Given the description of an element on the screen output the (x, y) to click on. 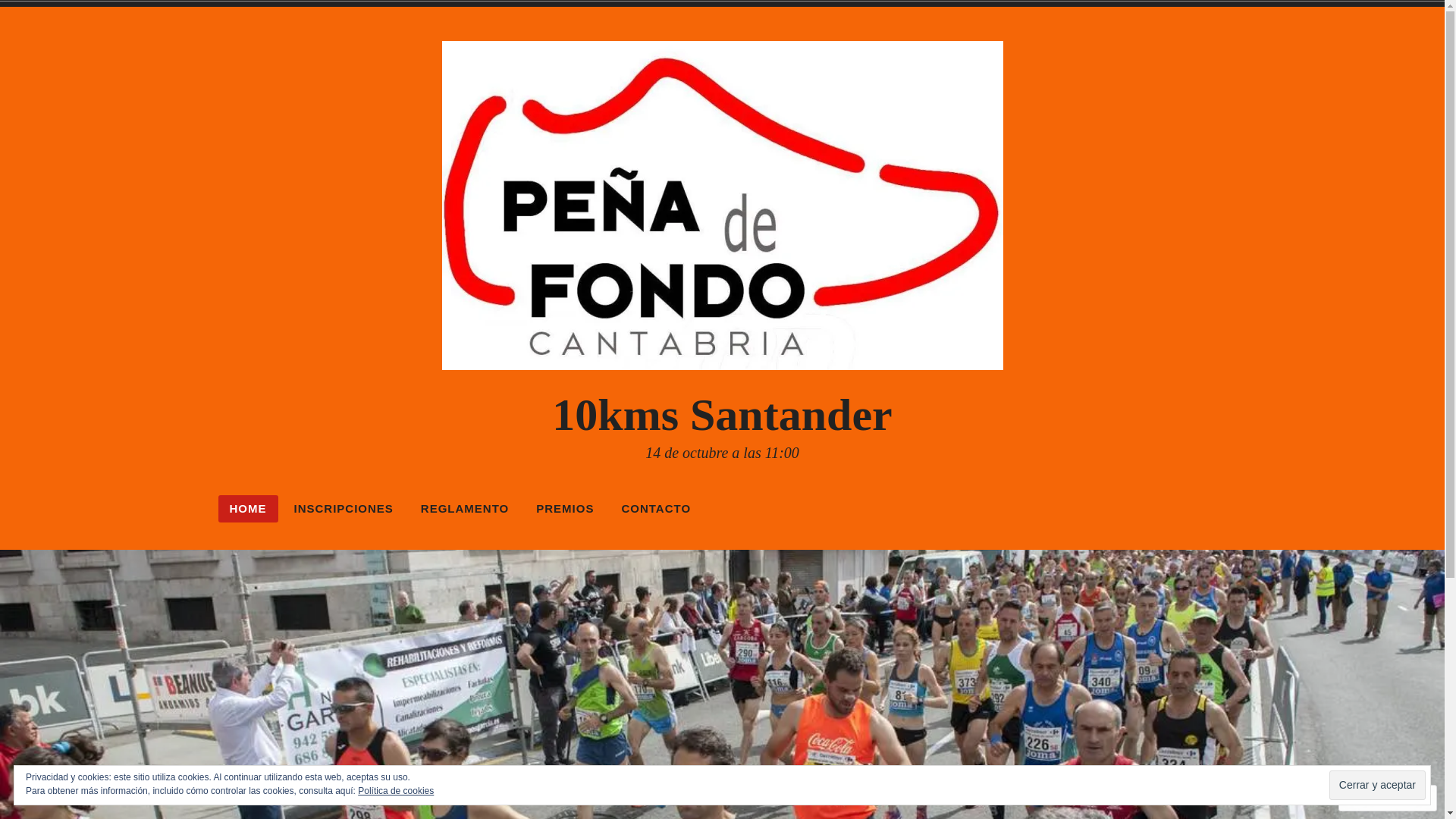
PREMIOS Element type: text (564, 508)
Seguir Element type: text (1372, 797)
REGLAMENTO Element type: text (464, 508)
INSCRIPCIONES Element type: text (343, 508)
HOME Element type: text (248, 508)
CONTACTO Element type: text (655, 508)
Cerrar y aceptar Element type: text (1377, 785)
10kms Santander Element type: text (721, 414)
